Given the description of an element on the screen output the (x, y) to click on. 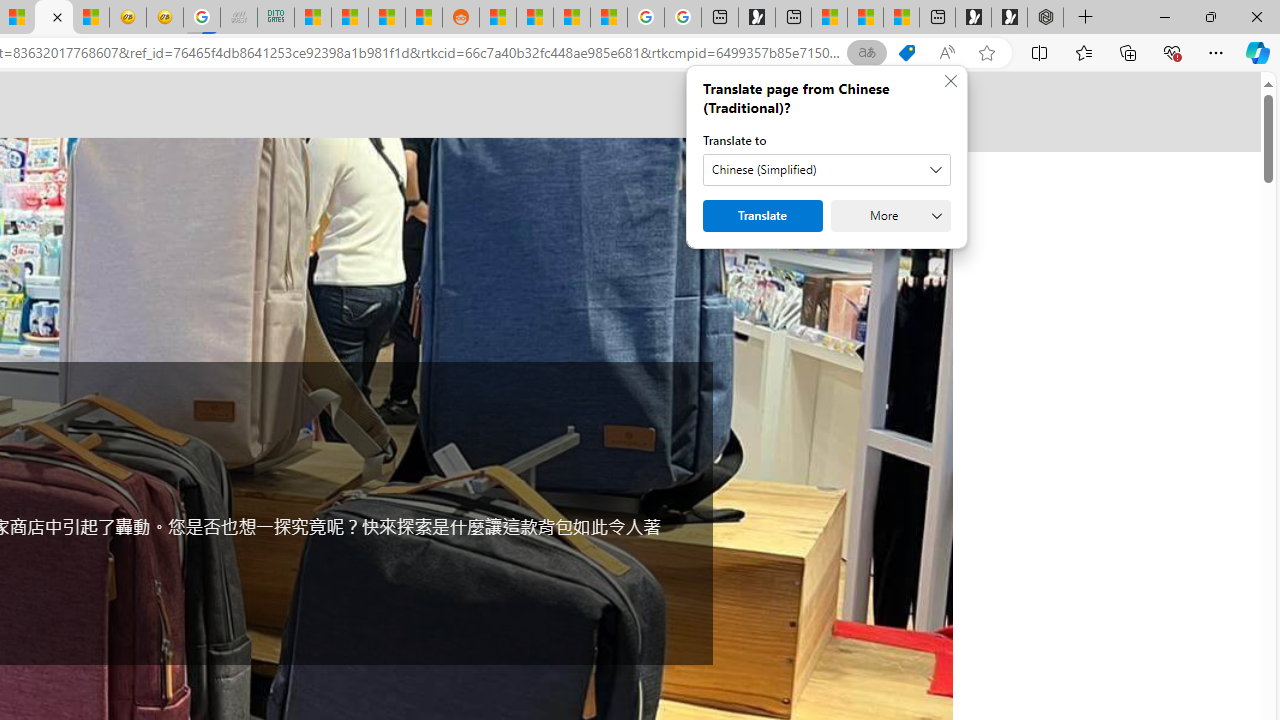
Translate to (826, 169)
R******* | Trusted Community Engagement and Contributions (497, 17)
These 3 Stocks Pay You More Than 5% to Own Them (901, 17)
